Given the description of an element on the screen output the (x, y) to click on. 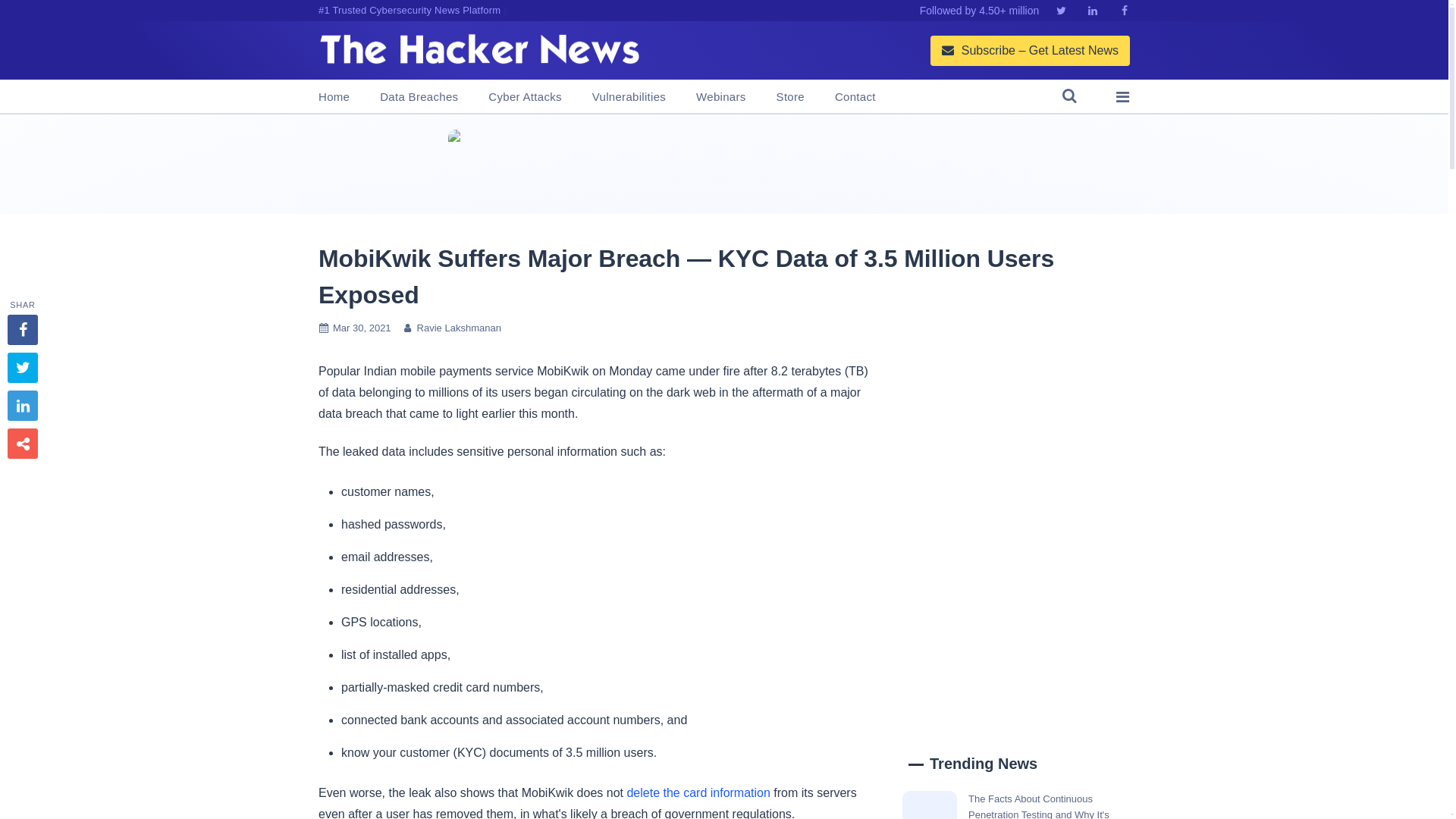
Webinars (720, 96)
Vulnerabilities (628, 96)
Data Breaches (419, 96)
Cyber Attacks (523, 96)
Contact (855, 96)
delete the card information (698, 792)
Home (333, 96)
